Given the description of an element on the screen output the (x, y) to click on. 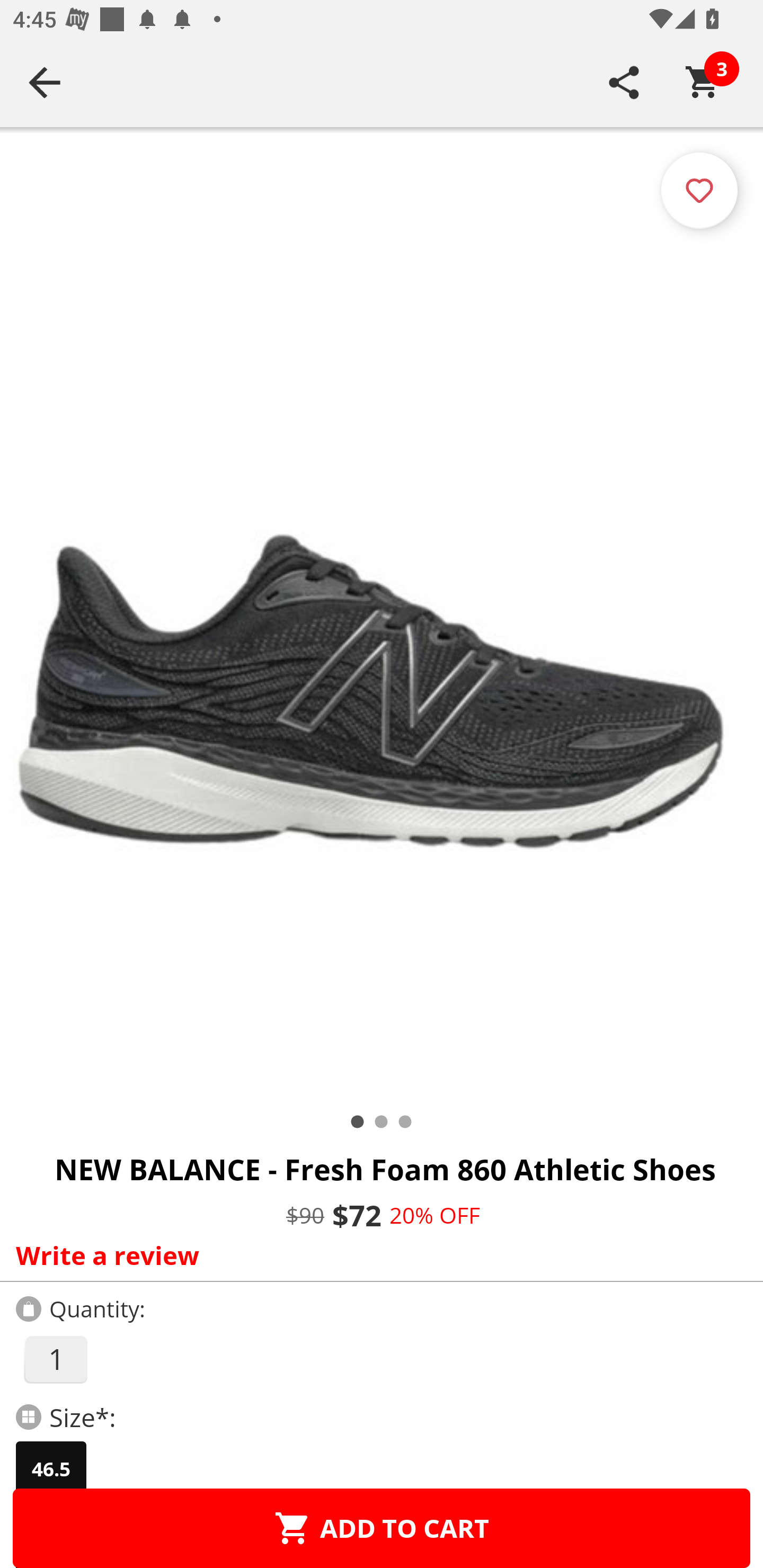
Navigate up (44, 82)
SHARE (623, 82)
Cart (703, 81)
Write a review (377, 1255)
1 (55, 1358)
46.5 (51, 1468)
ADD TO CART (381, 1528)
